Given the description of an element on the screen output the (x, y) to click on. 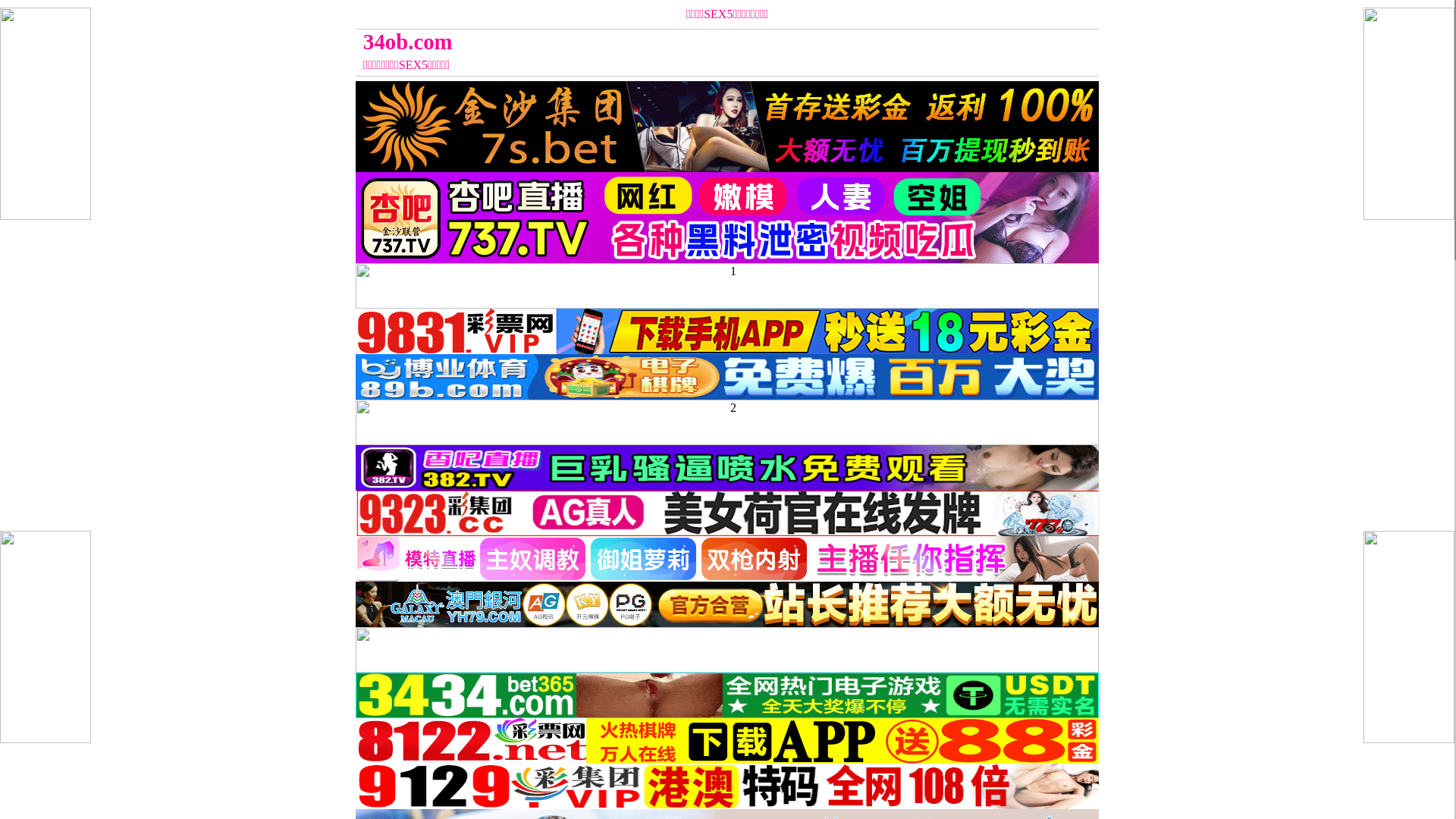
34ob.com Element type: text (634, 41)
